Given the description of an element on the screen output the (x, y) to click on. 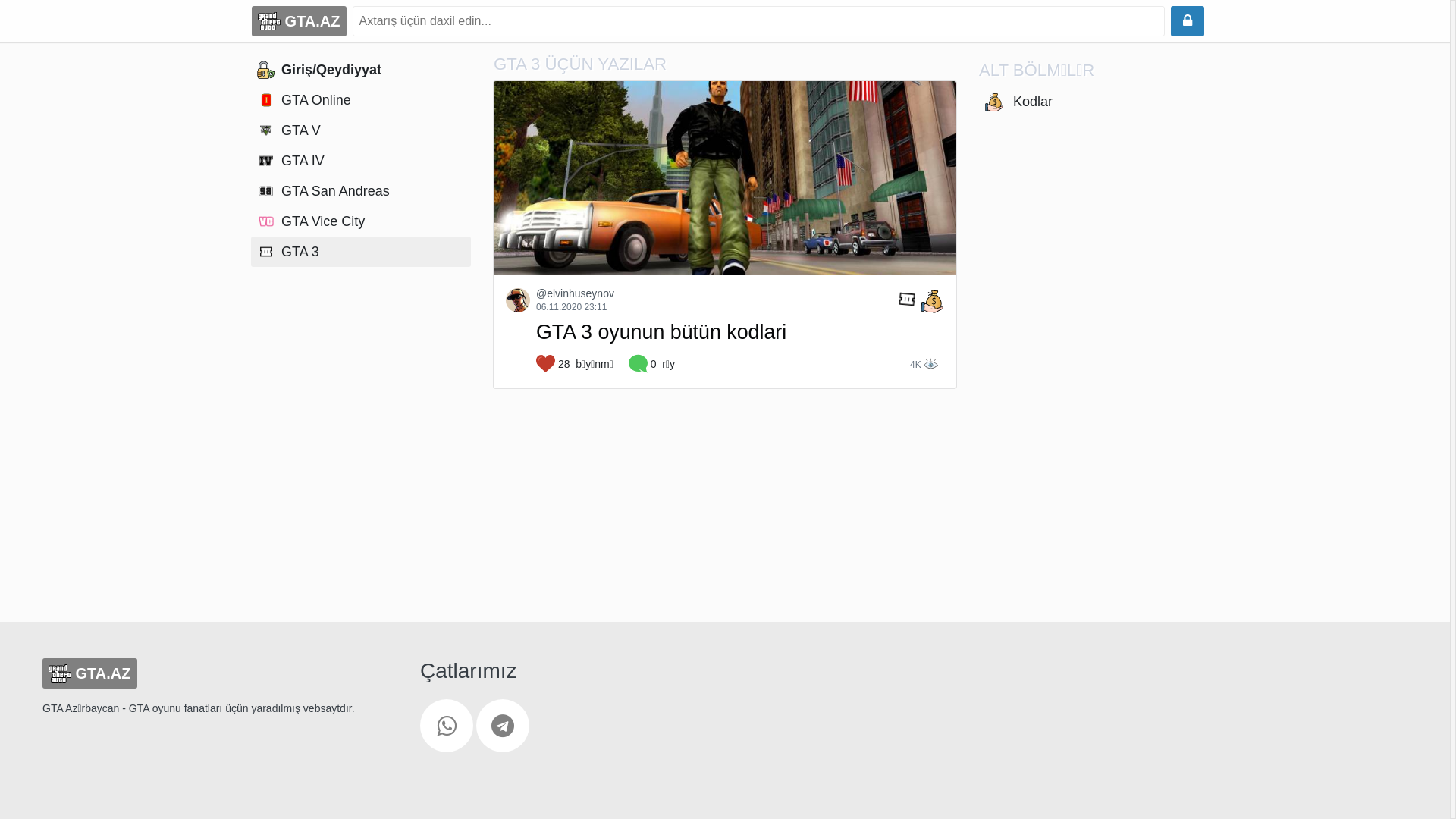
GTA 3 Element type: text (360, 251)
Telegram qrupumuz Element type: hover (502, 725)
Kodlar Element type: text (1088, 102)
GTA.AZ Element type: text (212, 673)
GTA Online Element type: text (360, 99)
@elvinhuseynov Element type: text (575, 294)
GTA IV Element type: text (360, 160)
GTA.AZ Element type: text (298, 21)
elvinhuseynov Element type: hover (517, 300)
GTA San Andreas Element type: text (360, 190)
GTA 3 Element type: hover (918, 298)
Whatsapp qrupumuz Element type: hover (446, 725)
GTA Vice City Element type: text (360, 221)
GTA V Element type: text (360, 130)
